Given the description of an element on the screen output the (x, y) to click on. 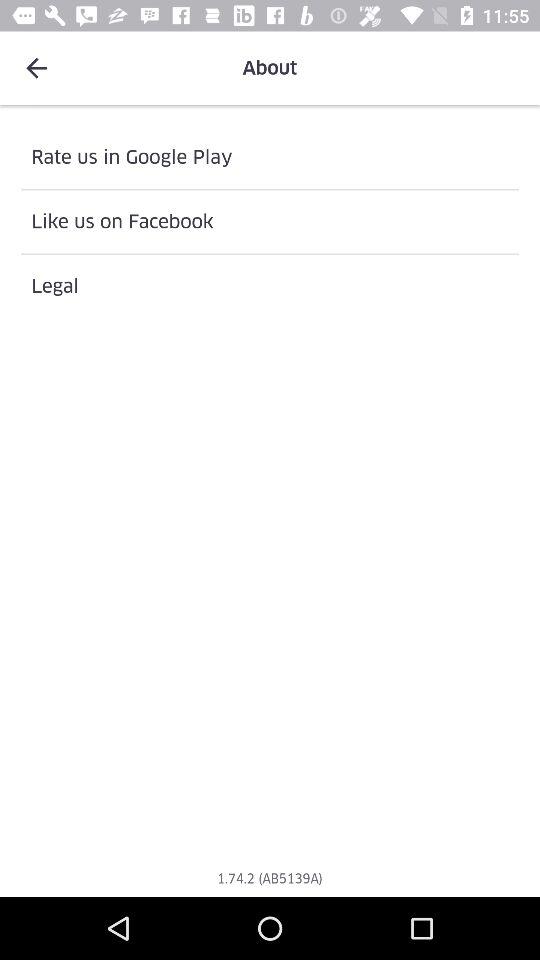
swipe to rate us in icon (270, 157)
